Given the description of an element on the screen output the (x, y) to click on. 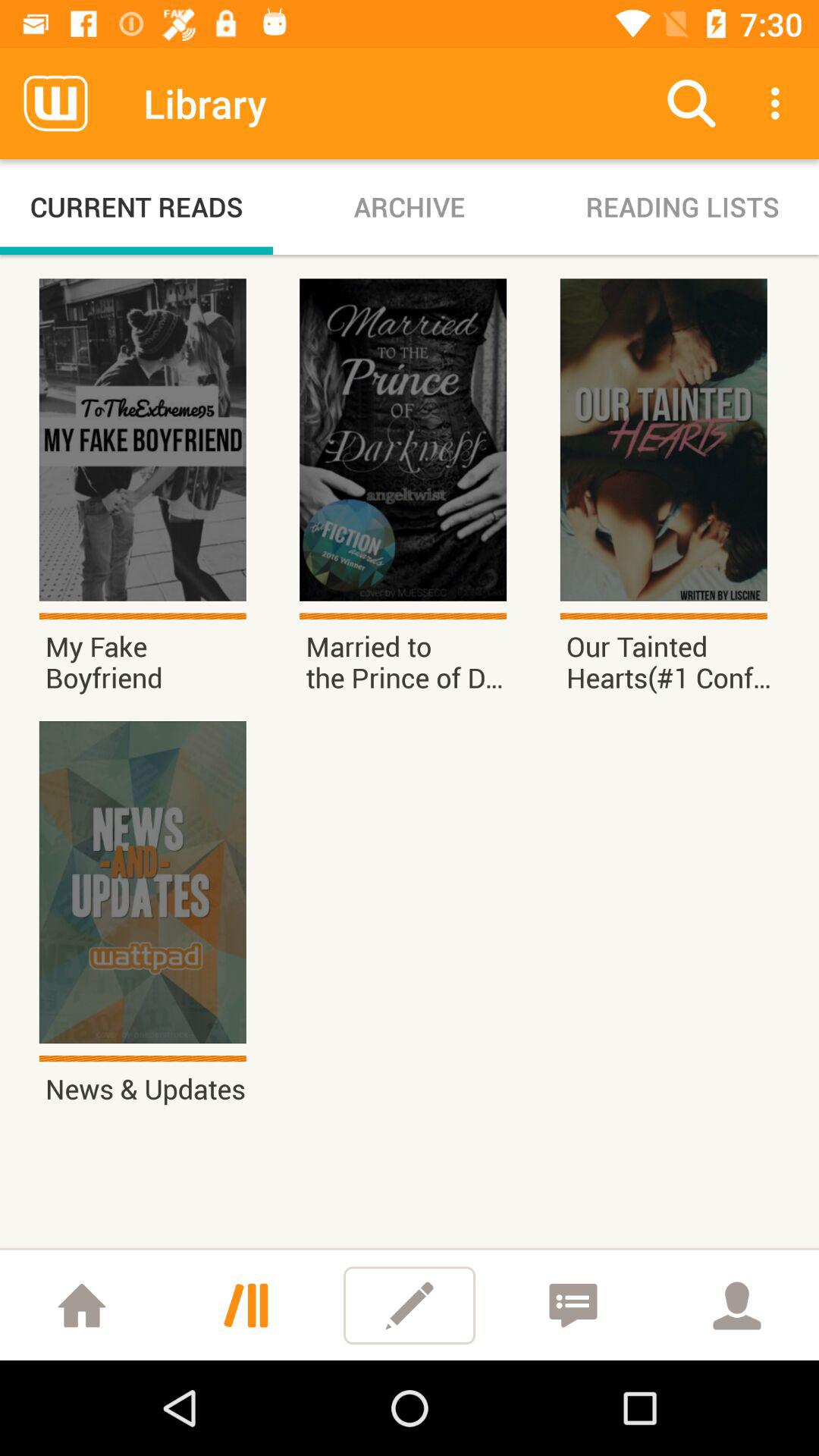
turn off the reading lists (682, 206)
